Given the description of an element on the screen output the (x, y) to click on. 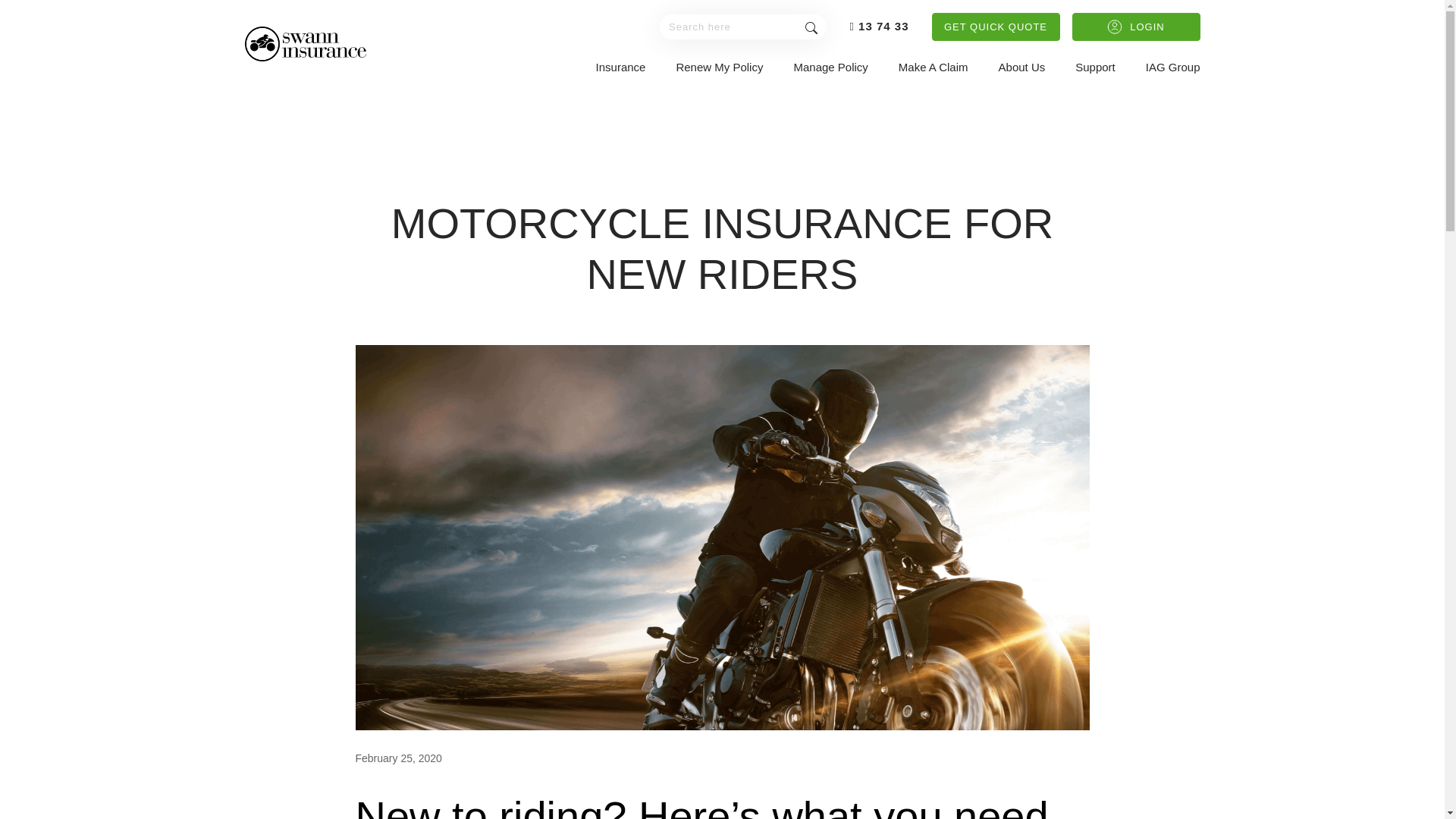
13 74 33 (878, 25)
GET QUICK QUOTE (995, 26)
LOGIN (1135, 26)
IAG Group (1172, 67)
Renew My Policy (718, 67)
Click For Callback (878, 25)
